Given the description of an element on the screen output the (x, y) to click on. 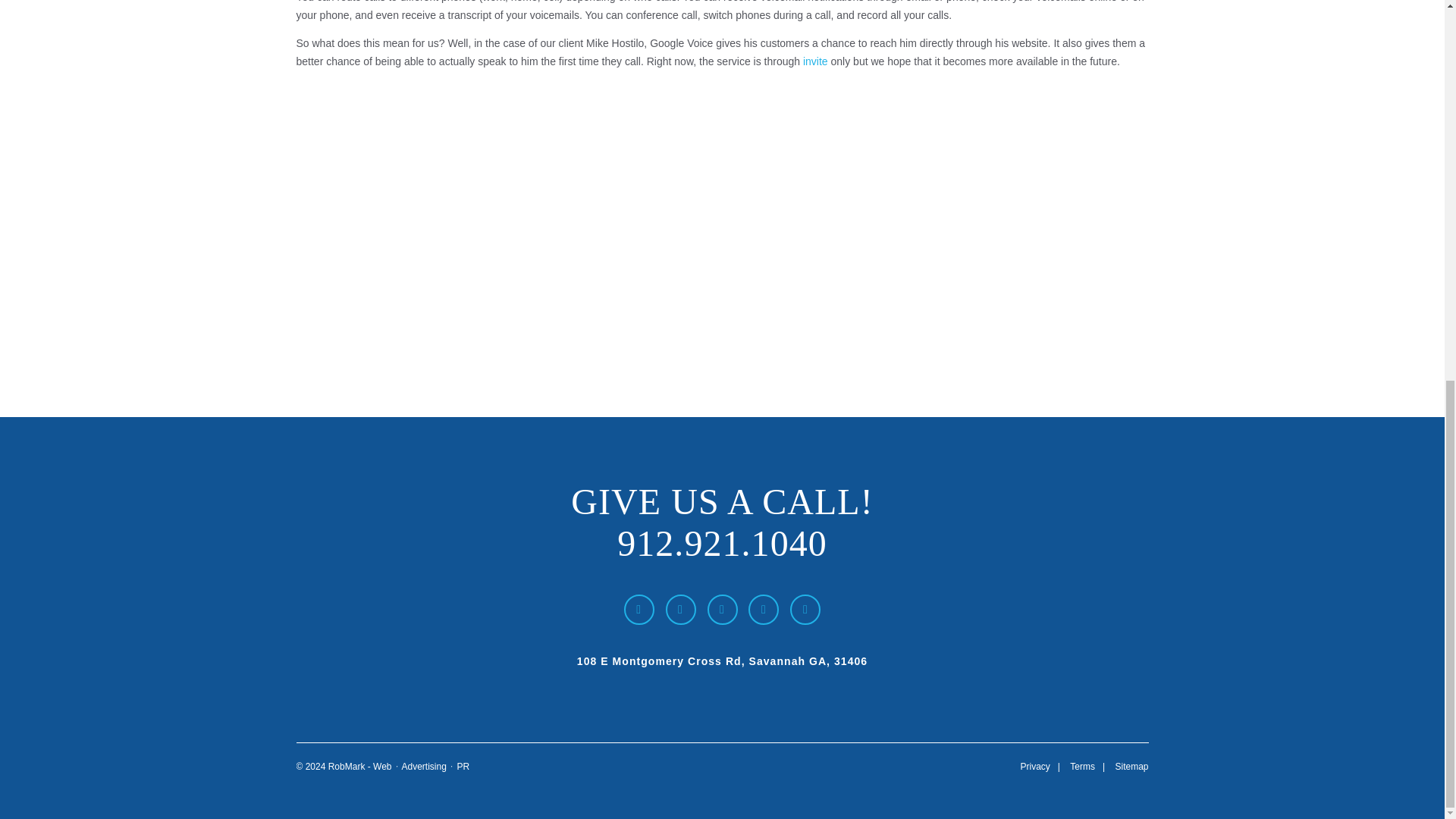
Sitemap (1131, 766)
invite (815, 61)
Privacy (1034, 766)
912.921.1040 (722, 543)
Terms (1082, 766)
